Given the description of an element on the screen output the (x, y) to click on. 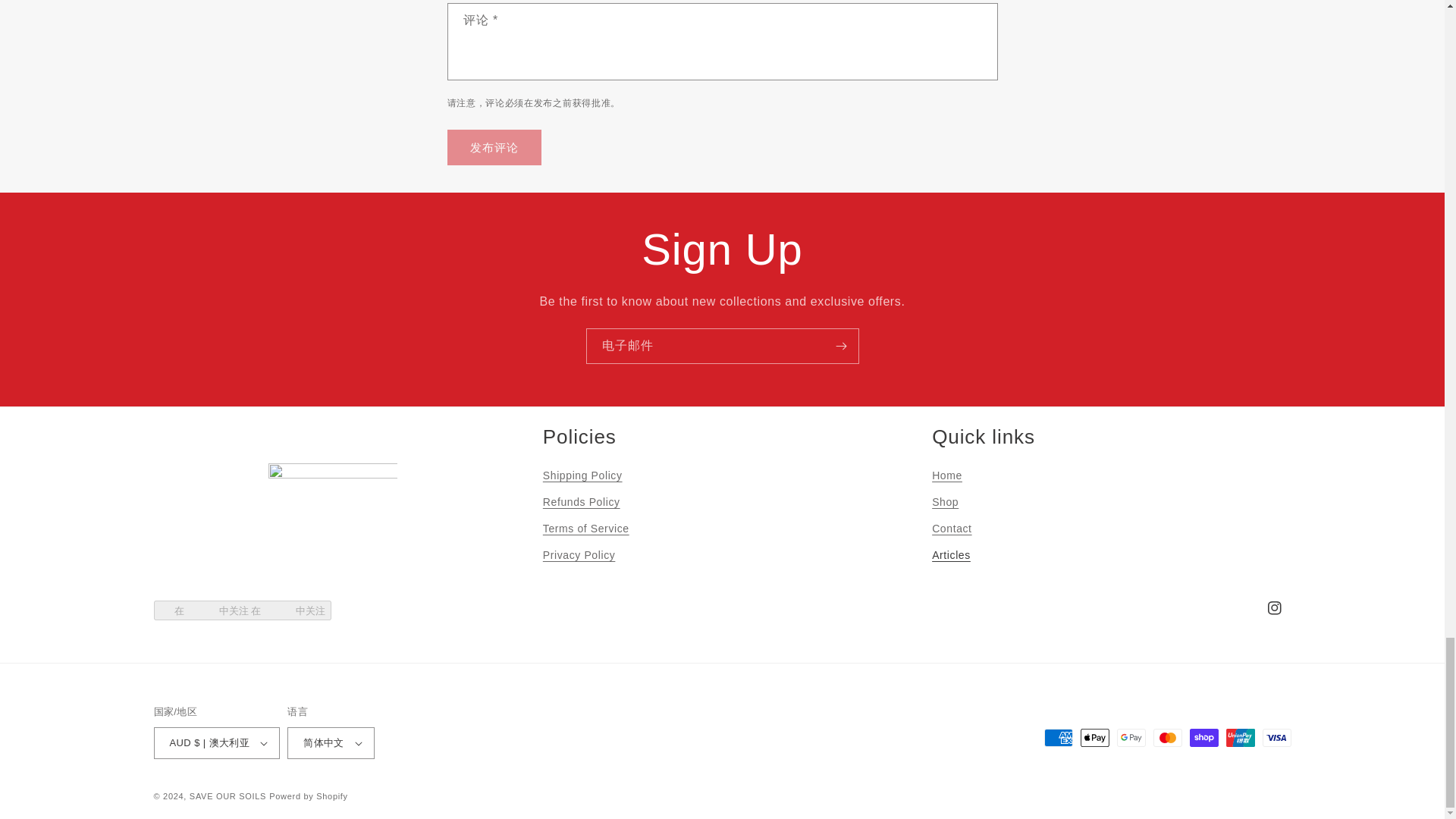
Shop (944, 501)
Instagram (1273, 607)
SAVE OUR SOILS (227, 795)
Home (946, 477)
Contact (951, 528)
Privacy Policy (579, 555)
Powerd by Shopify (308, 795)
Shipping Policy (583, 477)
Articles (951, 555)
Terms of Service (585, 528)
Refunds Policy (581, 501)
